Given the description of an element on the screen output the (x, y) to click on. 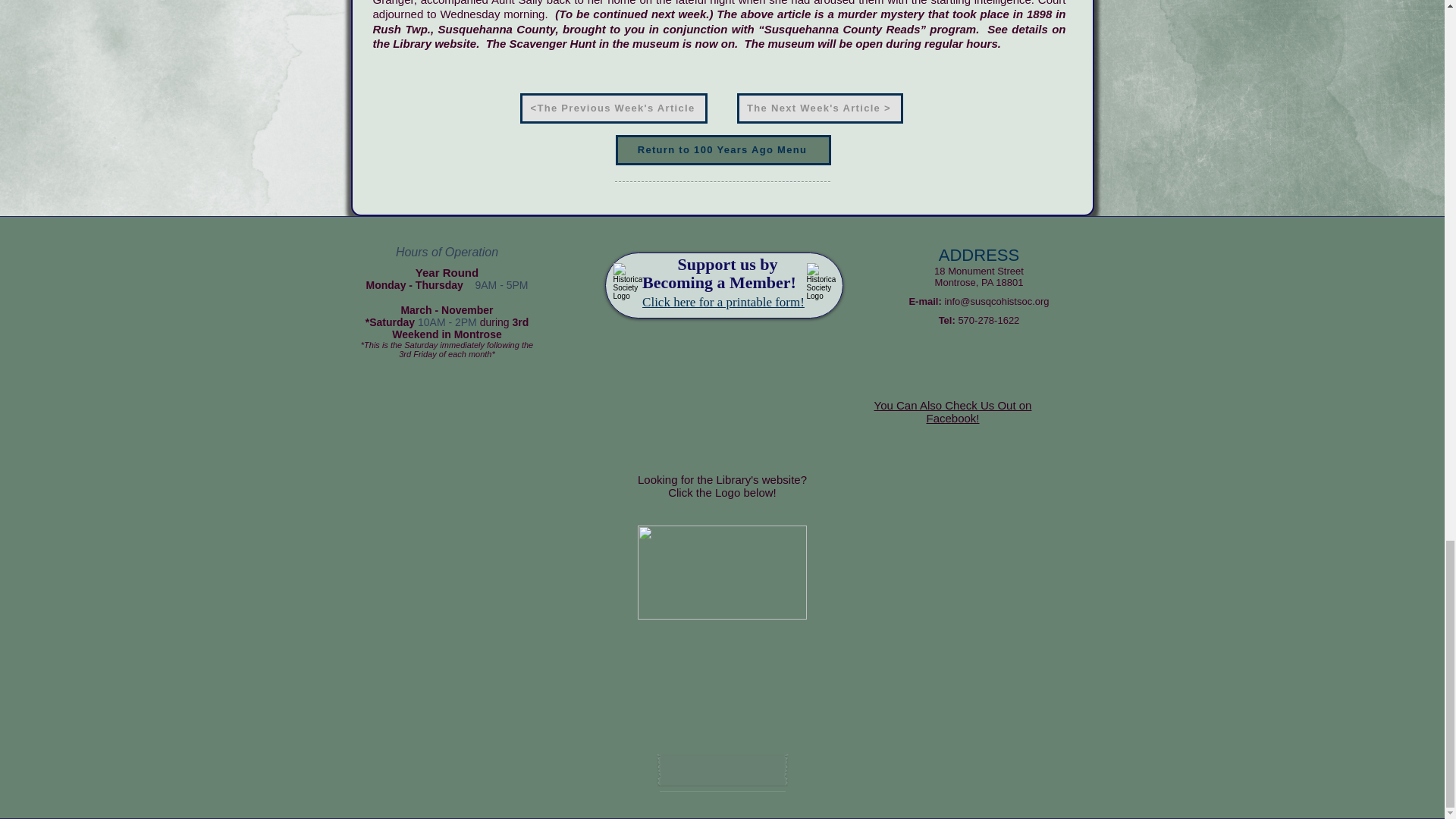
You Can Also Check Us Out on Facebook! (953, 411)
Staff Page (722, 769)
Return to 100 Years Ago Menu (723, 150)
